Given the description of an element on the screen output the (x, y) to click on. 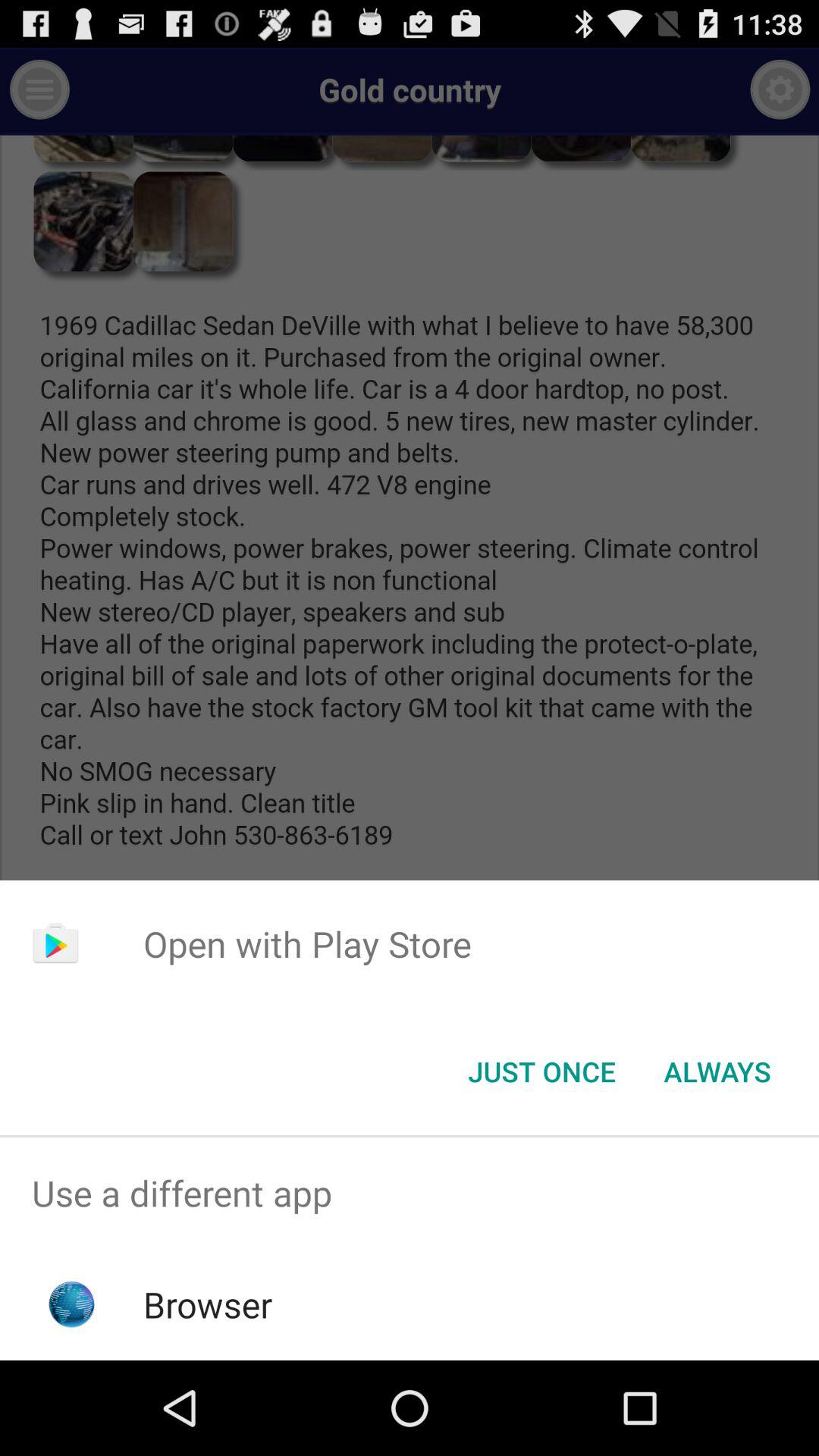
jump until the browser icon (207, 1304)
